Given the description of an element on the screen output the (x, y) to click on. 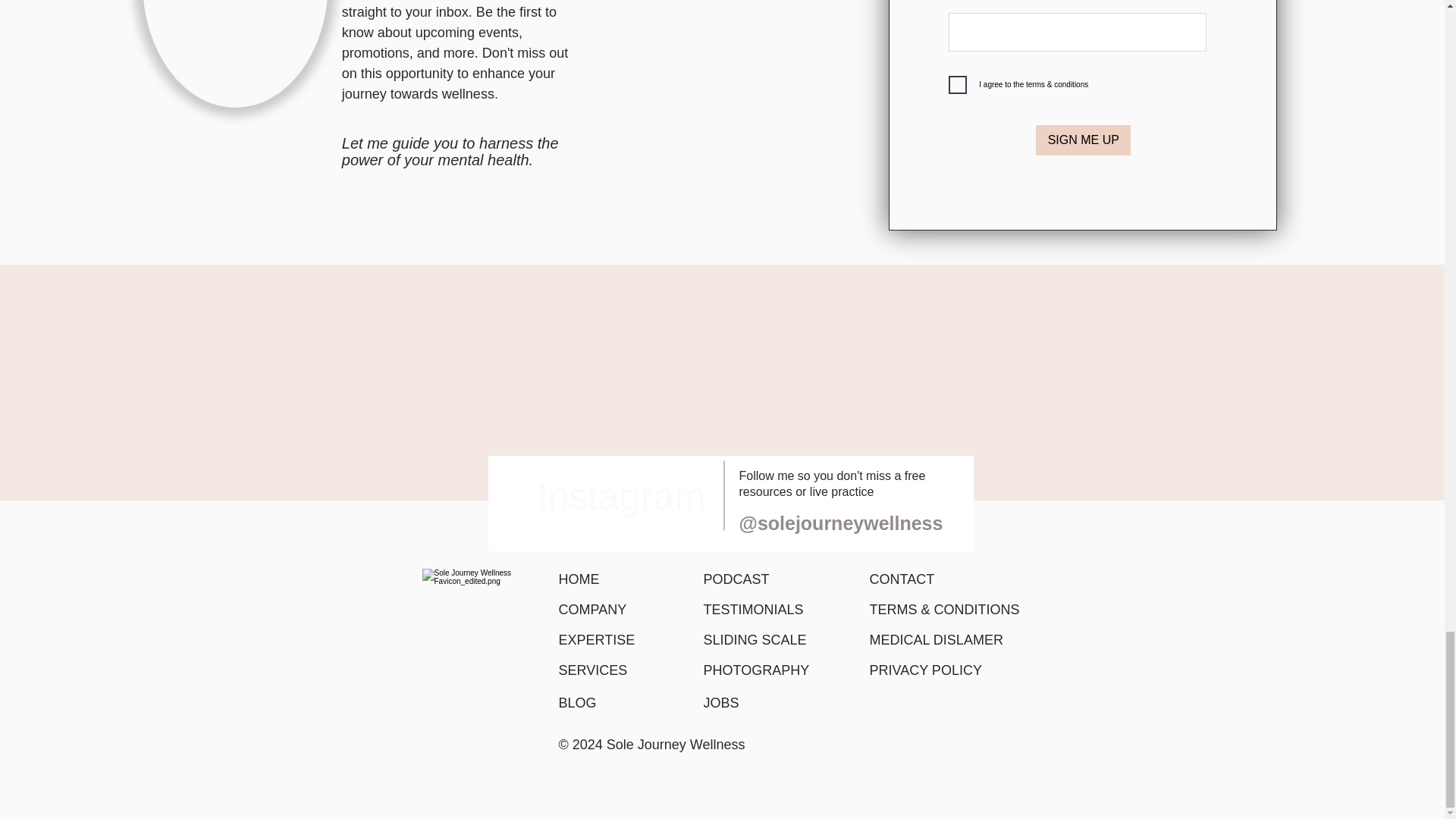
PHOTOGRAPHY (756, 670)
SLIDING SCALE (754, 639)
SERVICES (592, 670)
SIGN ME UP (1083, 140)
PODCAST (736, 579)
PRIVACY POLICY (925, 670)
BLOG (576, 702)
CONTACT (901, 579)
EXPERTISE (595, 639)
COMPANY (591, 609)
TESTIMONIALS (753, 609)
JOBS (721, 702)
MEDICAL DISLAMER (936, 639)
HOME (577, 579)
